Given the description of an element on the screen output the (x, y) to click on. 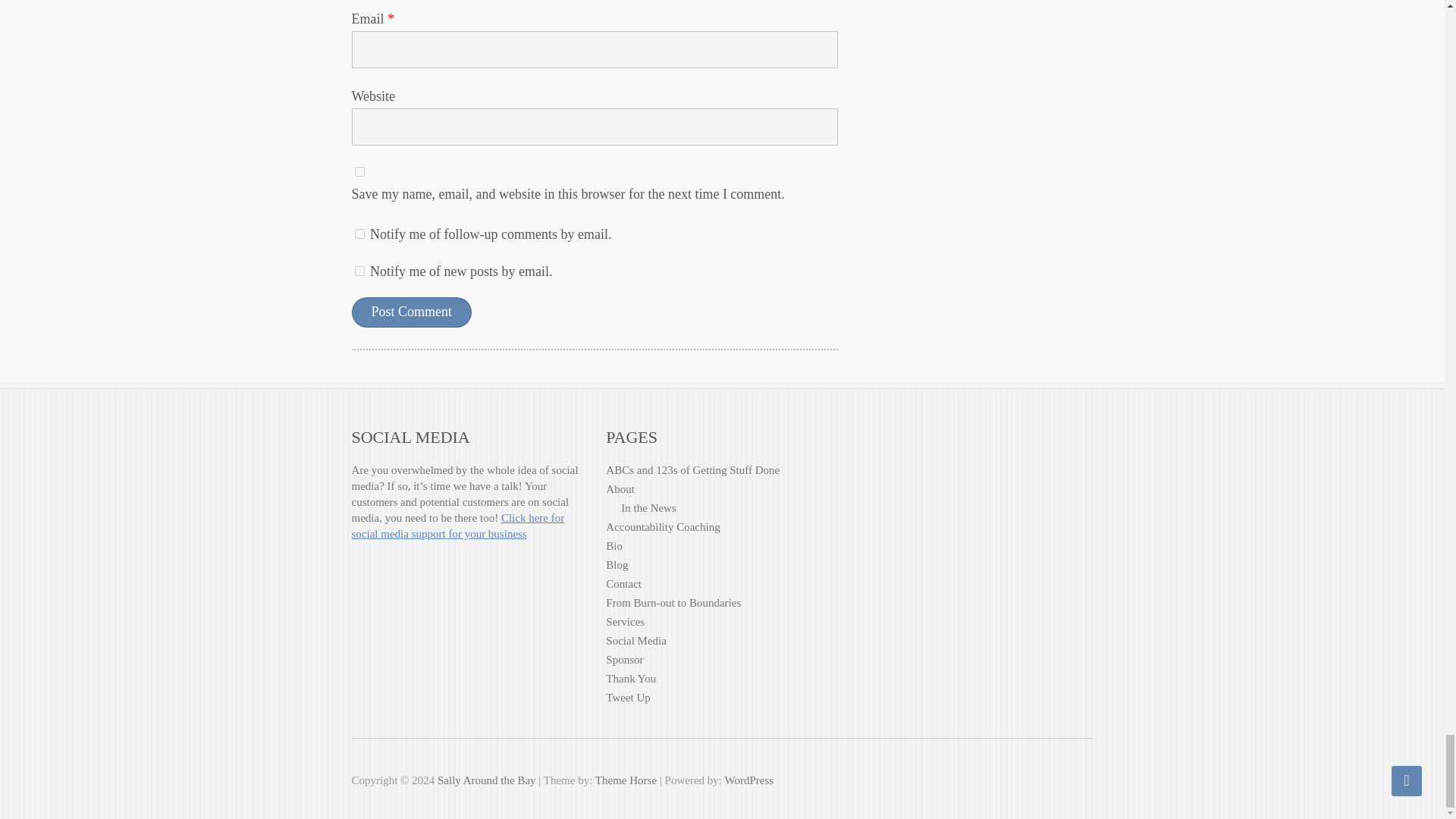
subscribe (360, 271)
Post Comment (411, 312)
yes (360, 171)
subscribe (360, 234)
